Given the description of an element on the screen output the (x, y) to click on. 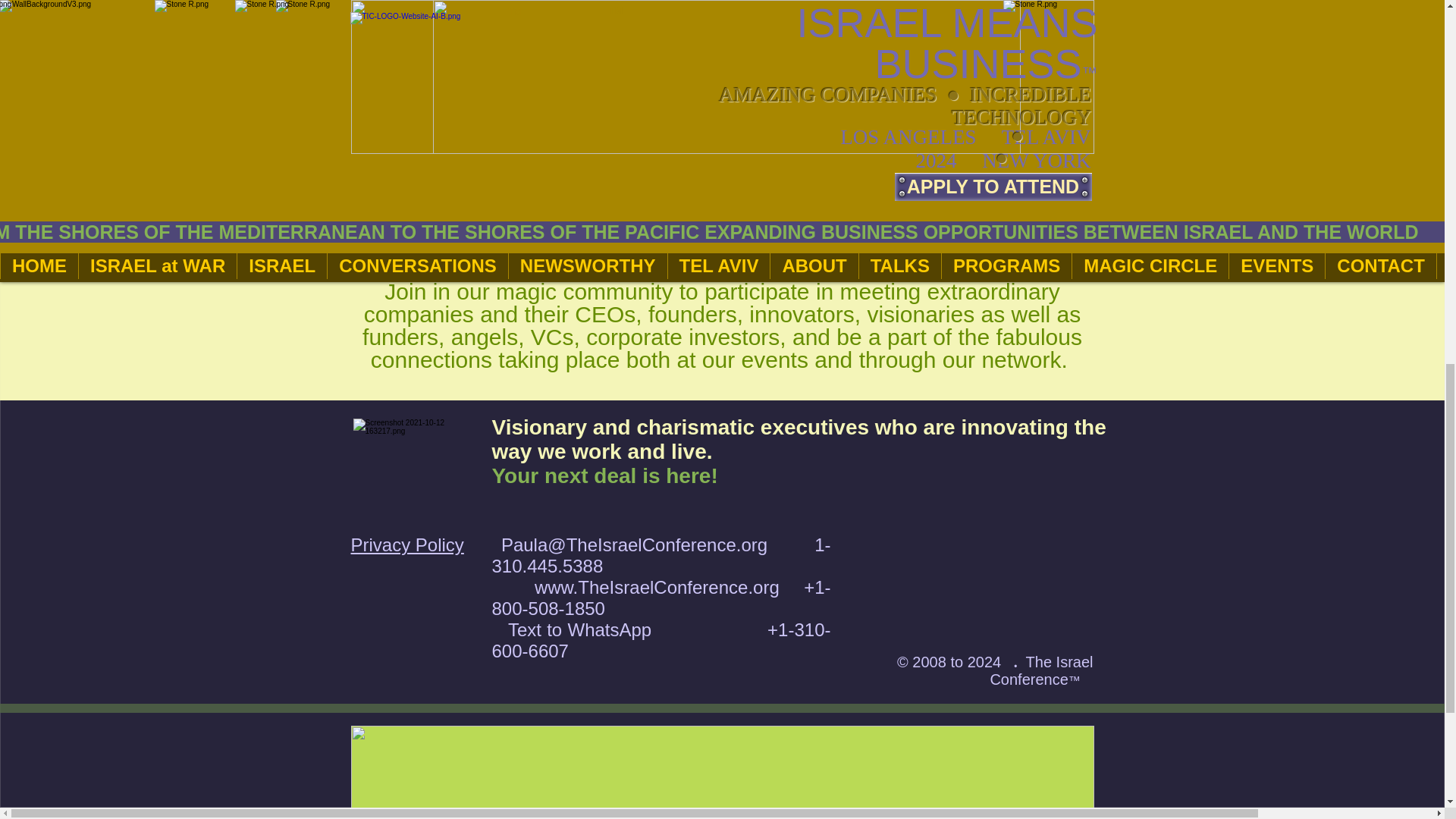
Privacy Policy (406, 544)
Send (974, 253)
www.TheIsraelConference.org (656, 587)
